Given the description of an element on the screen output the (x, y) to click on. 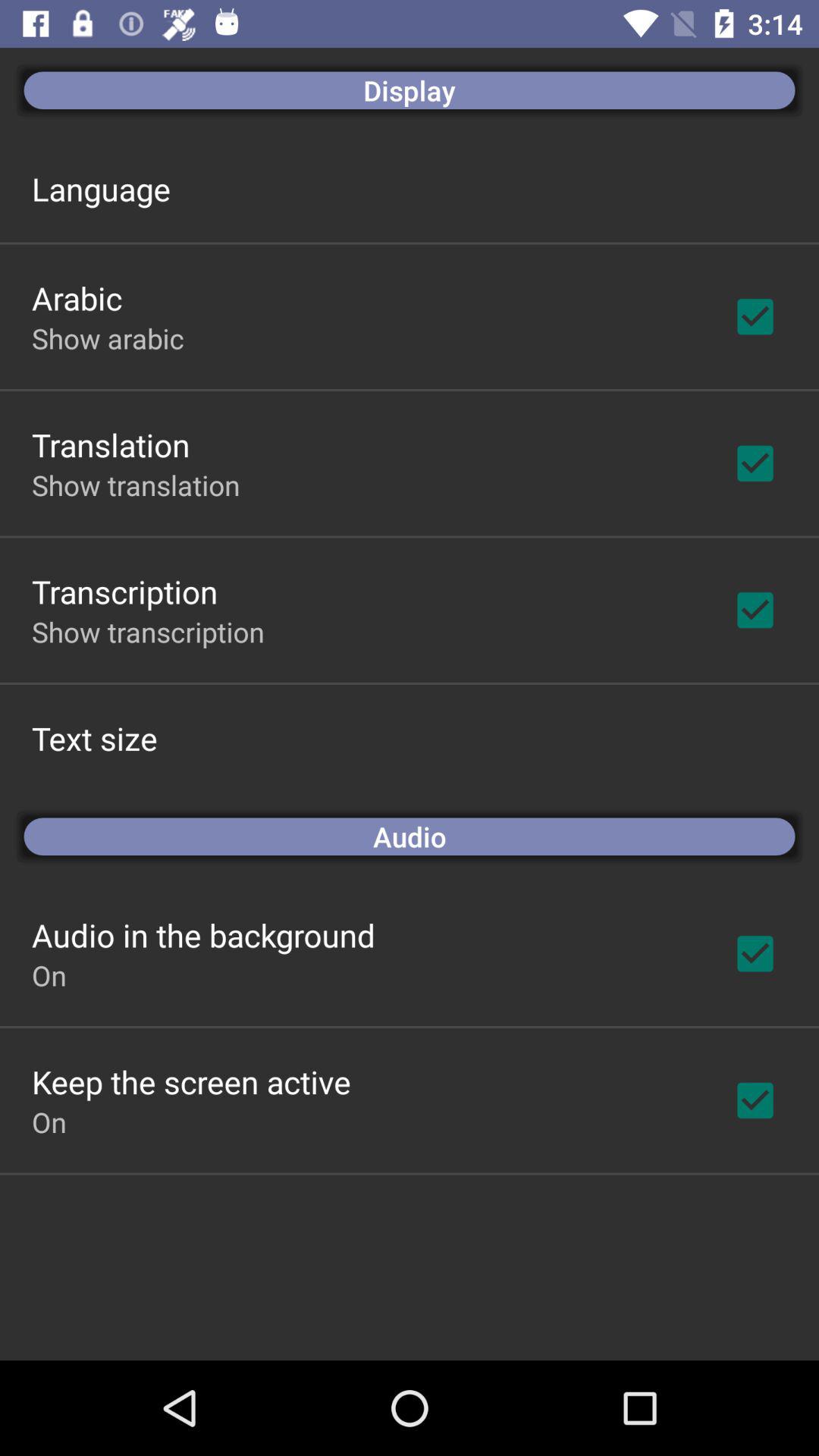
click item below the arabic item (107, 338)
